Given the description of an element on the screen output the (x, y) to click on. 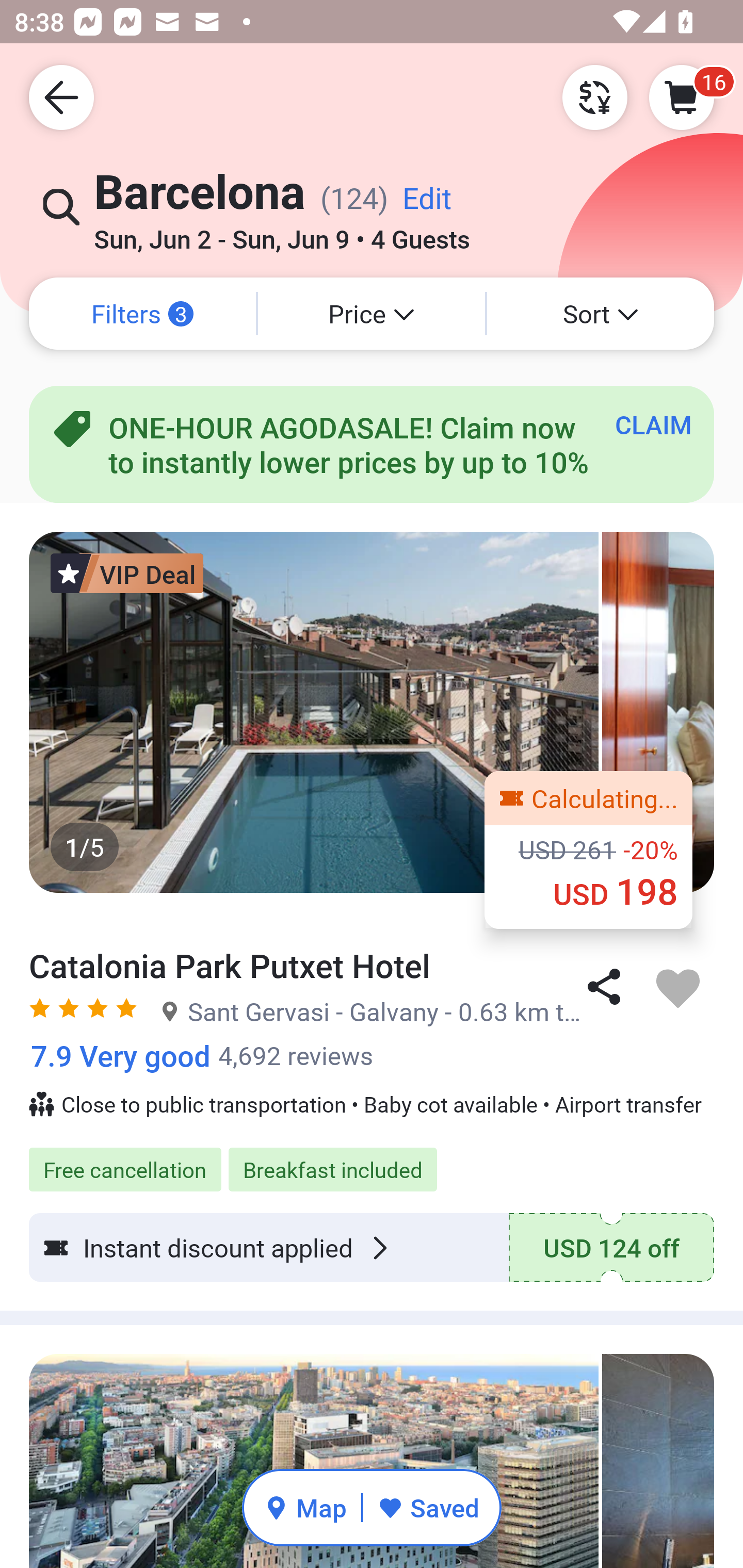
Filters 3 (141, 313)
Price (371, 313)
Sort (600, 313)
CLAIM (653, 424)
VIP Deal (126, 572)
1/5 (371, 711)
Calculating... ‪USD 261 -20% ‪USD 198 (588, 849)
Free cancellation Breakfast included (371, 1158)
Instant discount applied USD 124 off (371, 1247)
Map (305, 1507)
Saved (428, 1507)
